Given the description of an element on the screen output the (x, y) to click on. 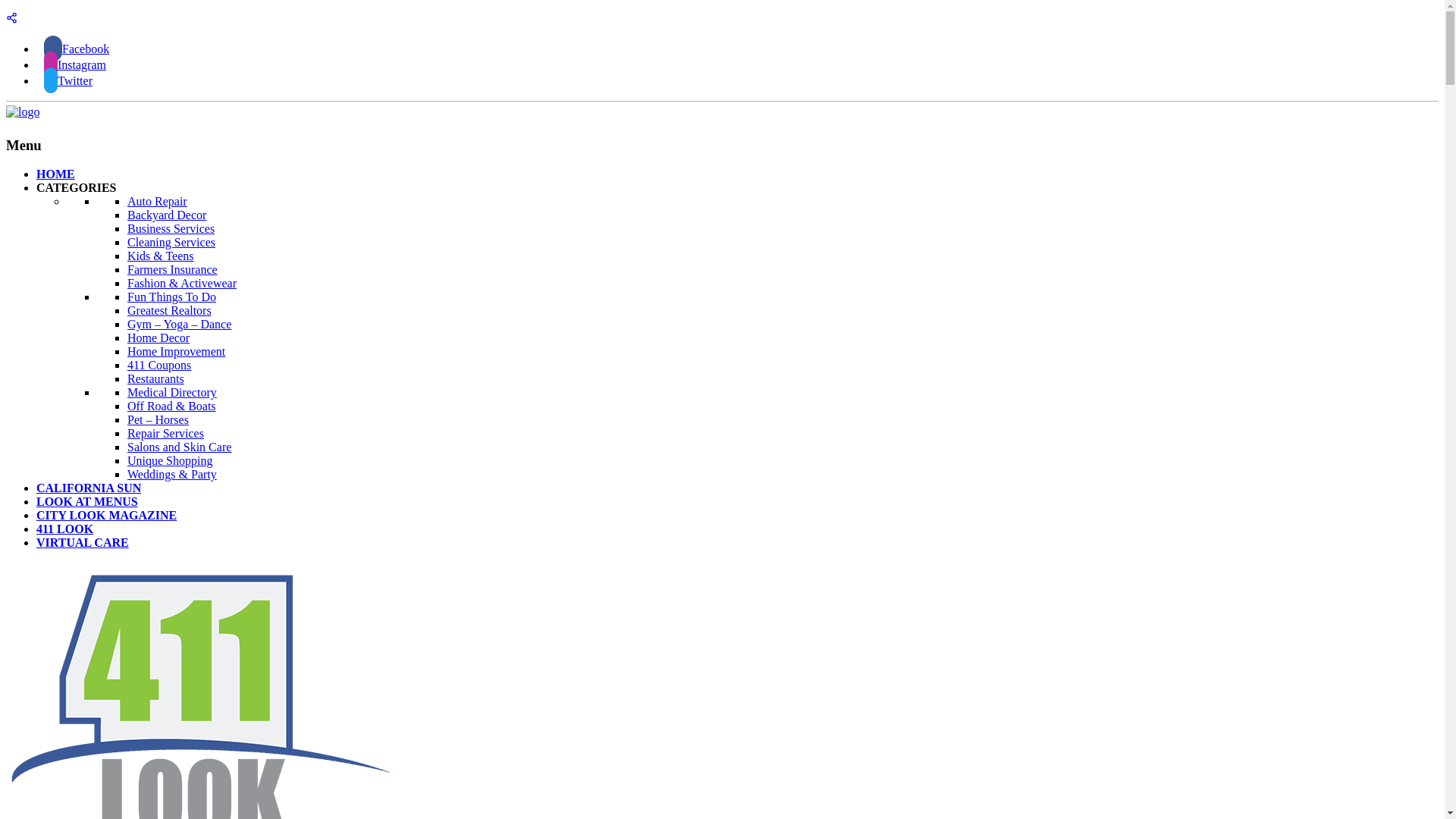
LOOK AT MENUS Element type: text (87, 501)
Business Services Element type: text (170, 228)
411 LOOK Element type: text (64, 528)
Auto Repair Element type: text (157, 200)
Twitter Element type: text (67, 80)
Fun Things To Do Element type: text (171, 296)
Unique Shopping Element type: text (169, 460)
Off Road & Boats Element type: text (171, 405)
411Look Element type: hover (22, 111)
Home Decor Element type: text (158, 337)
HOME Element type: text (55, 173)
Medical Directory Element type: text (171, 391)
Farmers Insurance Element type: text (172, 269)
CATEGORIES Element type: text (76, 187)
Home Improvement Element type: text (176, 351)
Fashion & Activewear Element type: text (181, 282)
411 Coupons Element type: text (159, 364)
Restaurants Element type: text (155, 378)
Repair Services Element type: text (165, 432)
VIRTUAL CARE Element type: text (82, 542)
Salons and Skin Care Element type: text (179, 446)
Backyard Decor Element type: text (166, 214)
CITY LOOK MAGAZINE Element type: text (106, 514)
Greatest Realtors Element type: text (169, 310)
Facebook Element type: text (76, 48)
Weddings & Party Element type: text (171, 473)
Kids & Teens Element type: text (160, 255)
Instagram Element type: text (74, 64)
Cleaning Services Element type: text (171, 241)
CALIFORNIA SUN Element type: text (88, 487)
